Given the description of an element on the screen output the (x, y) to click on. 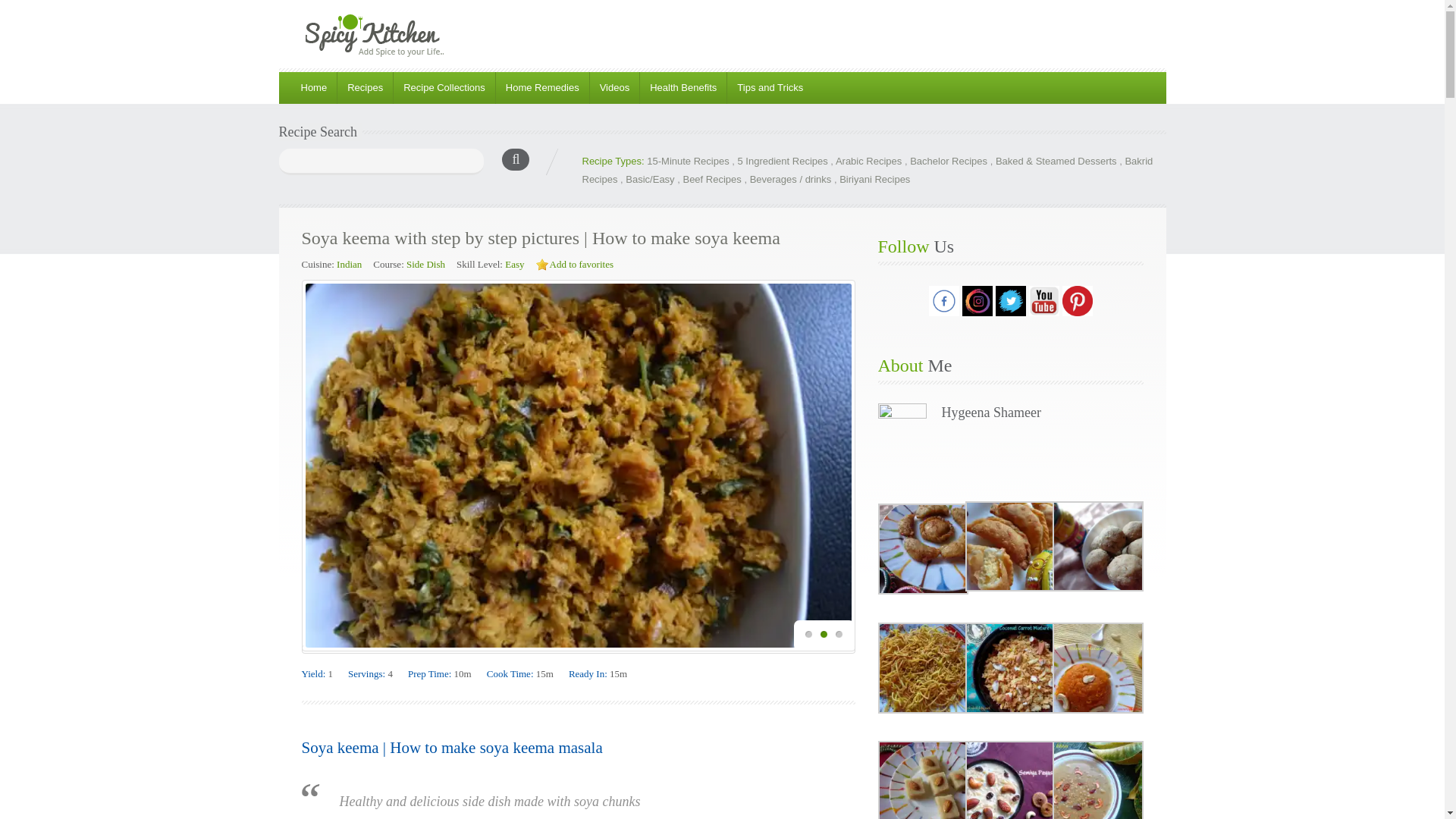
Home Remedies (542, 88)
Recipe Collections (444, 88)
Facebook (942, 314)
Add to favorites (580, 264)
Videos (614, 88)
Instagram (975, 300)
Facebook (943, 300)
Search (520, 161)
Health Benefits (682, 88)
Favorite (541, 264)
Recipes (364, 88)
Home (312, 88)
Instagram (975, 314)
